Given the description of an element on the screen output the (x, y) to click on. 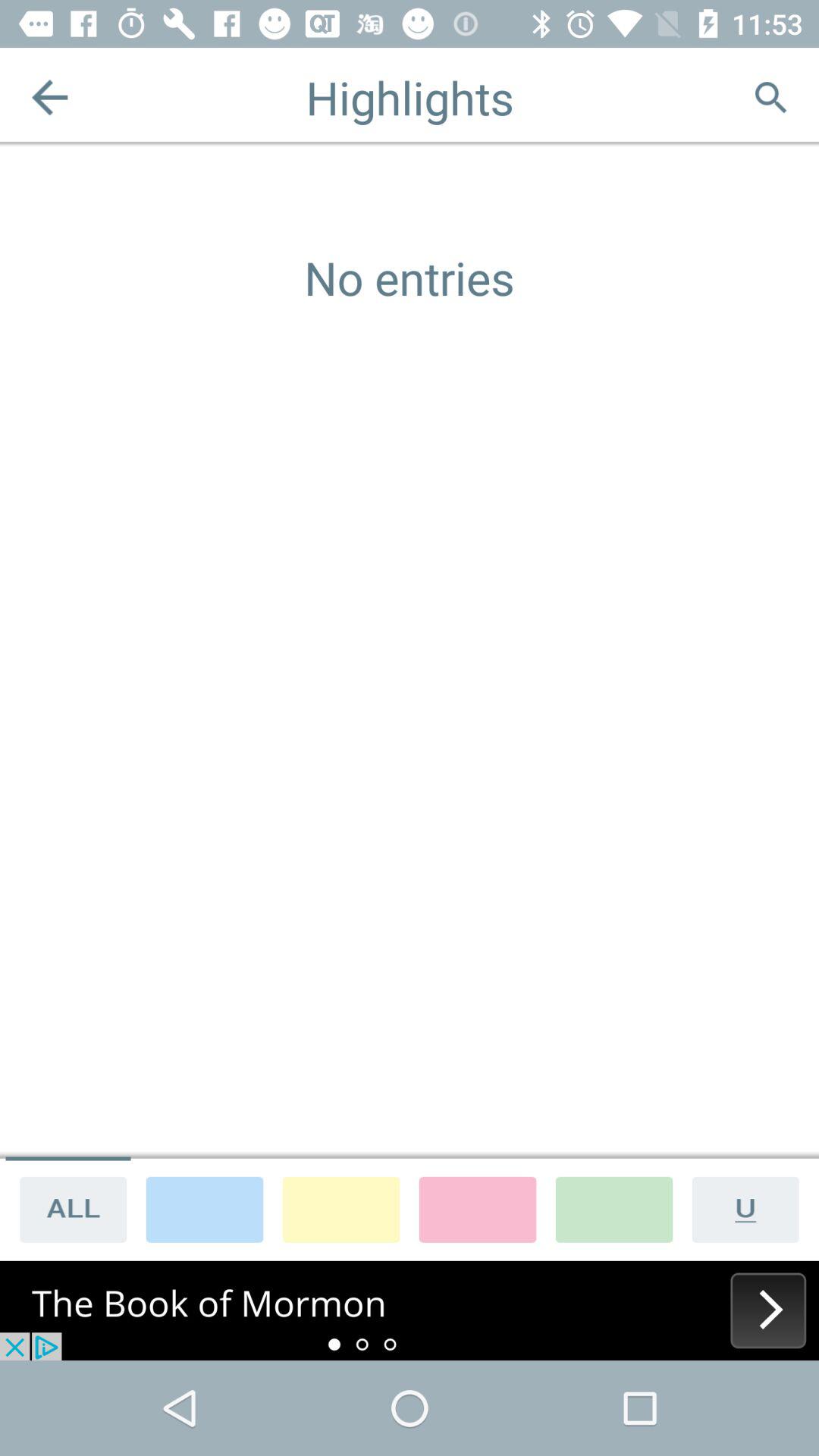
click to underline option (750, 1208)
